Given the description of an element on the screen output the (x, y) to click on. 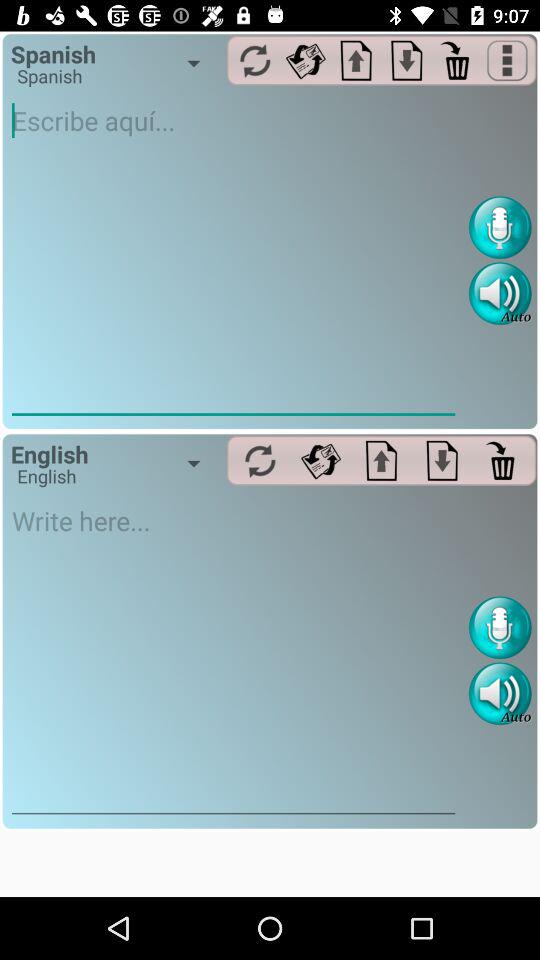
forward (320, 460)
